Given the description of an element on the screen output the (x, y) to click on. 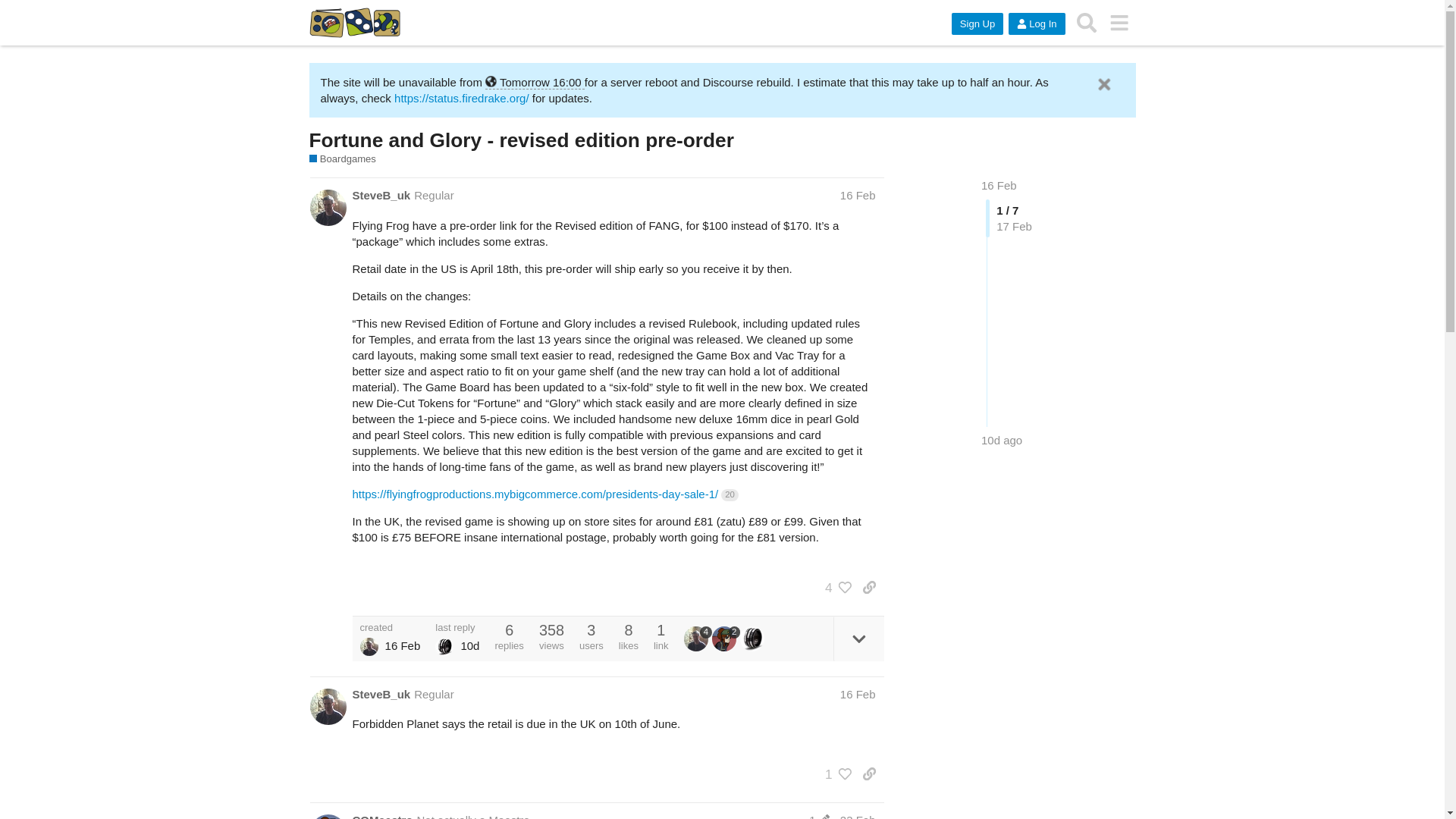
menu (1119, 22)
last reply (457, 627)
16 Feb (858, 694)
10d ago (1001, 439)
Fortune and Glory - revised edition pre-order (520, 139)
9 Jul 2024 15:18 (1001, 440)
4 people liked this post (833, 587)
COMaestro (382, 815)
1 (819, 816)
2 (725, 638)
Stephen B (368, 647)
4 (697, 638)
4 (833, 587)
Rev. Roger BW (443, 647)
copy a link to this post to clipboard (869, 587)
